Given the description of an element on the screen output the (x, y) to click on. 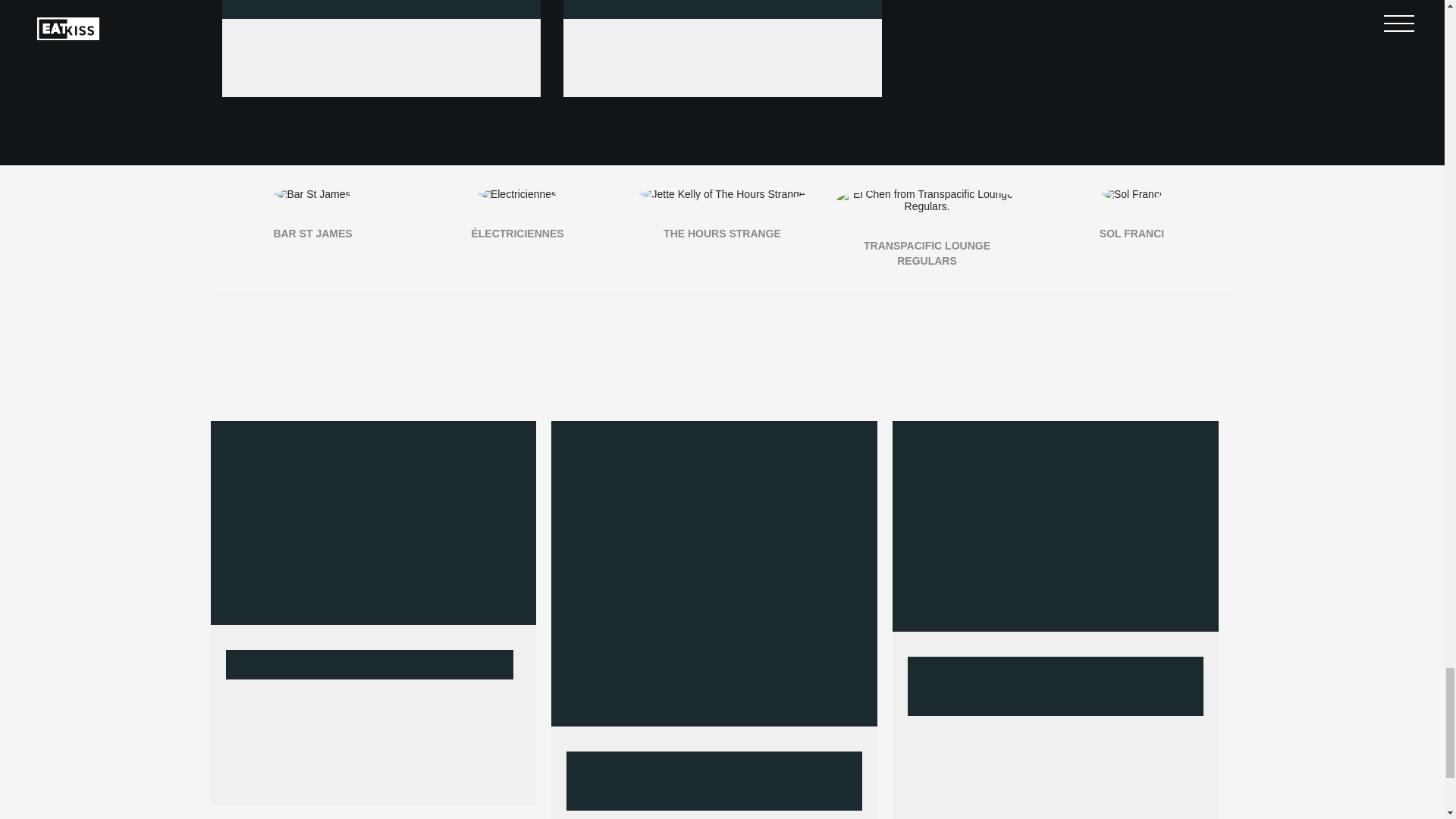
Jette Kelly of The Hours Strange (722, 193)
Bar St James (312, 193)
Transpacific Lounge Regulars - Time And Nicotine (1063, 27)
El Chen from Transpacific Lounge Regulars. (926, 200)
